Given the description of an element on the screen output the (x, y) to click on. 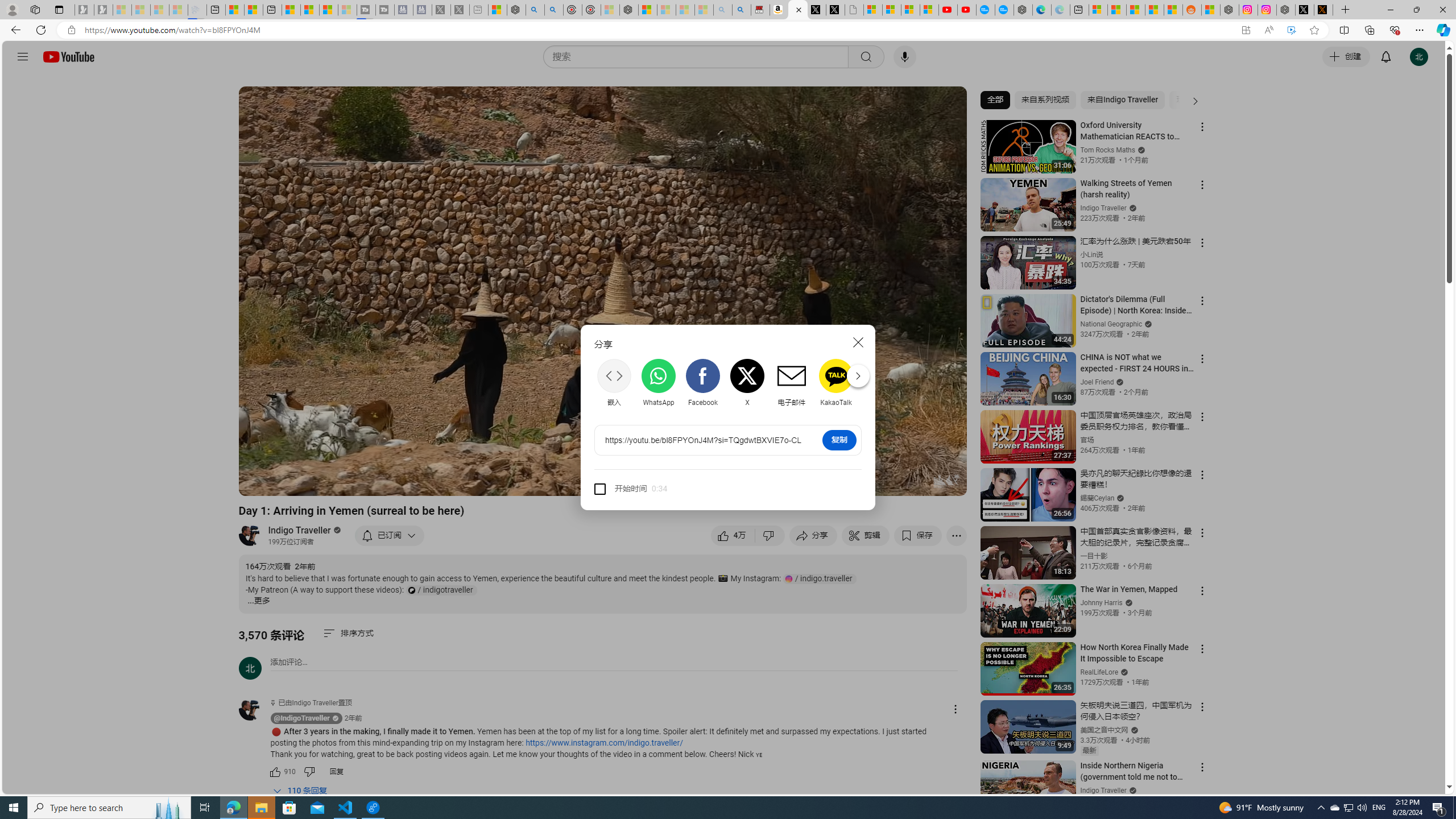
AutomationID: simplebox-placeholder (288, 662)
